Given the description of an element on the screen output the (x, y) to click on. 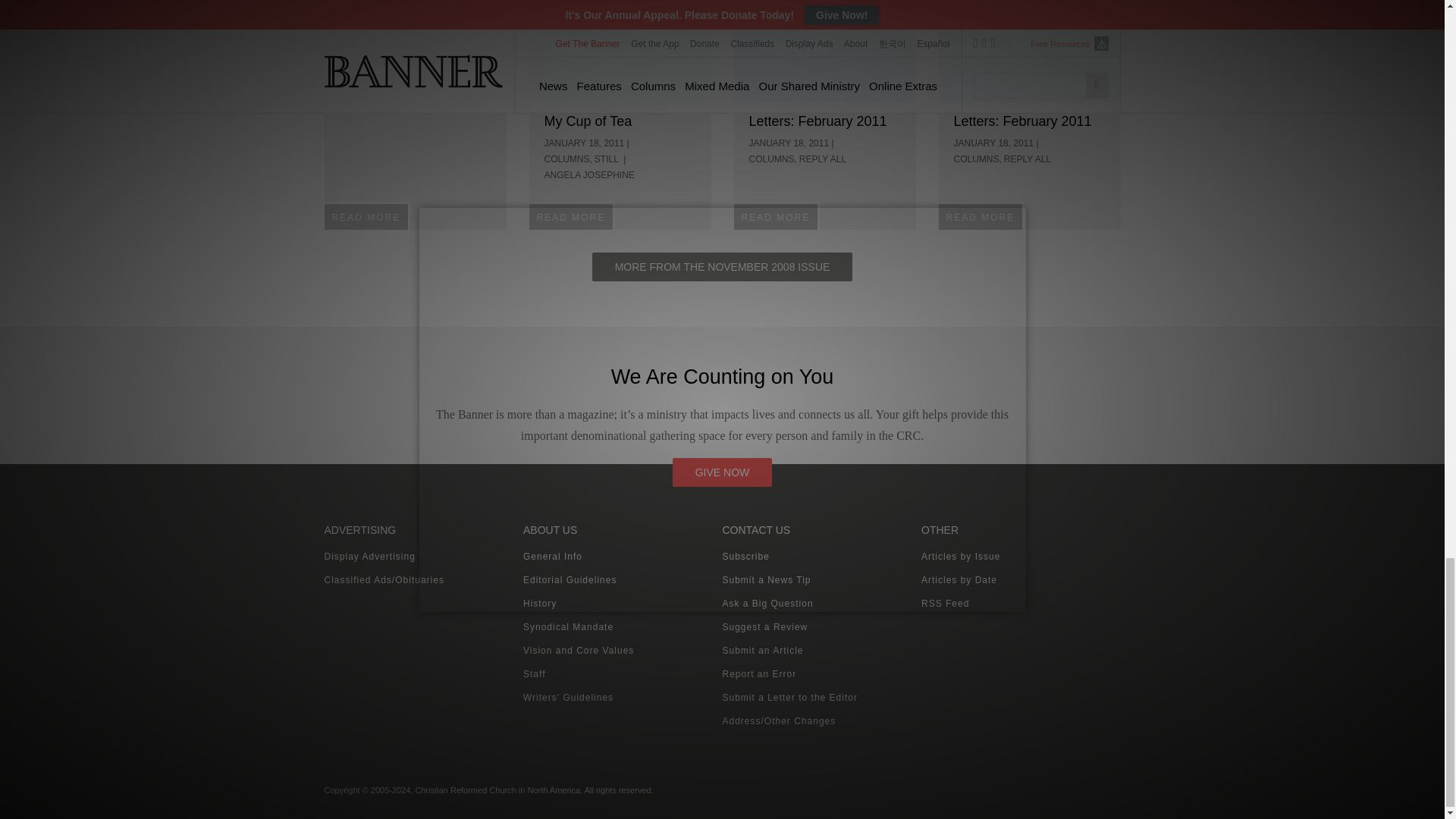
STILL (606, 158)
READ MORE (367, 215)
DANIEL BOERMAN (384, 77)
REPLY ALL (822, 158)
My Cup of Tea (587, 120)
FEATURES, (364, 61)
FOR STUDY GROUPS (438, 61)
Is Prosperity a Blessing? (414, 23)
COLUMNS, (568, 158)
IMAGE: (620, 51)
ANGELA JOSEPHINE (589, 174)
IMAGE: (824, 51)
COLUMNS, (772, 158)
Letters: February 2011 (817, 120)
READ MORE (572, 215)
